Given the description of an element on the screen output the (x, y) to click on. 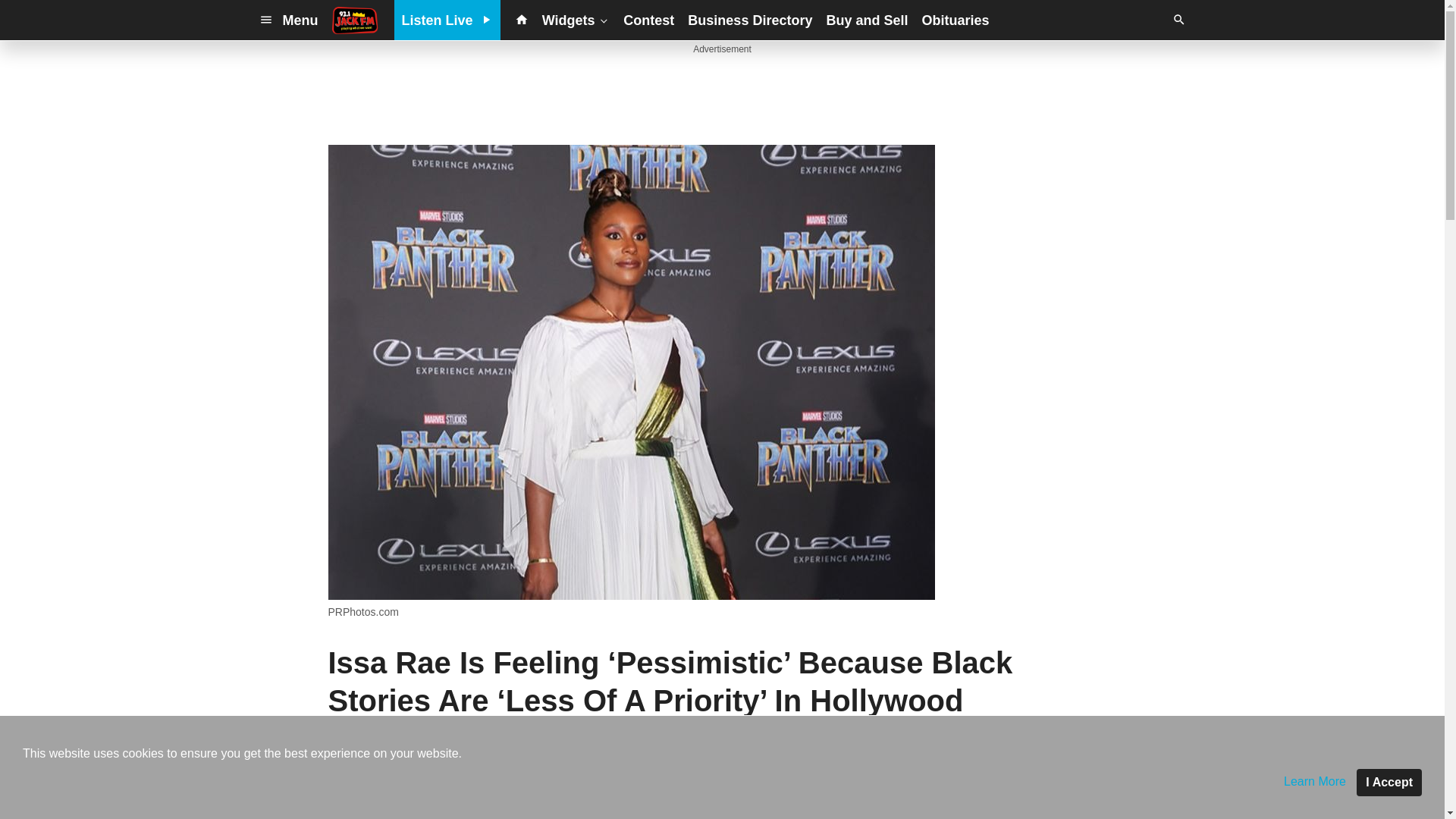
Menu (287, 19)
Contest (648, 19)
Obituaries (954, 19)
Business Directory (749, 19)
Widgets (576, 19)
Buy and Sell (866, 19)
Listen Live (447, 20)
